Given the description of an element on the screen output the (x, y) to click on. 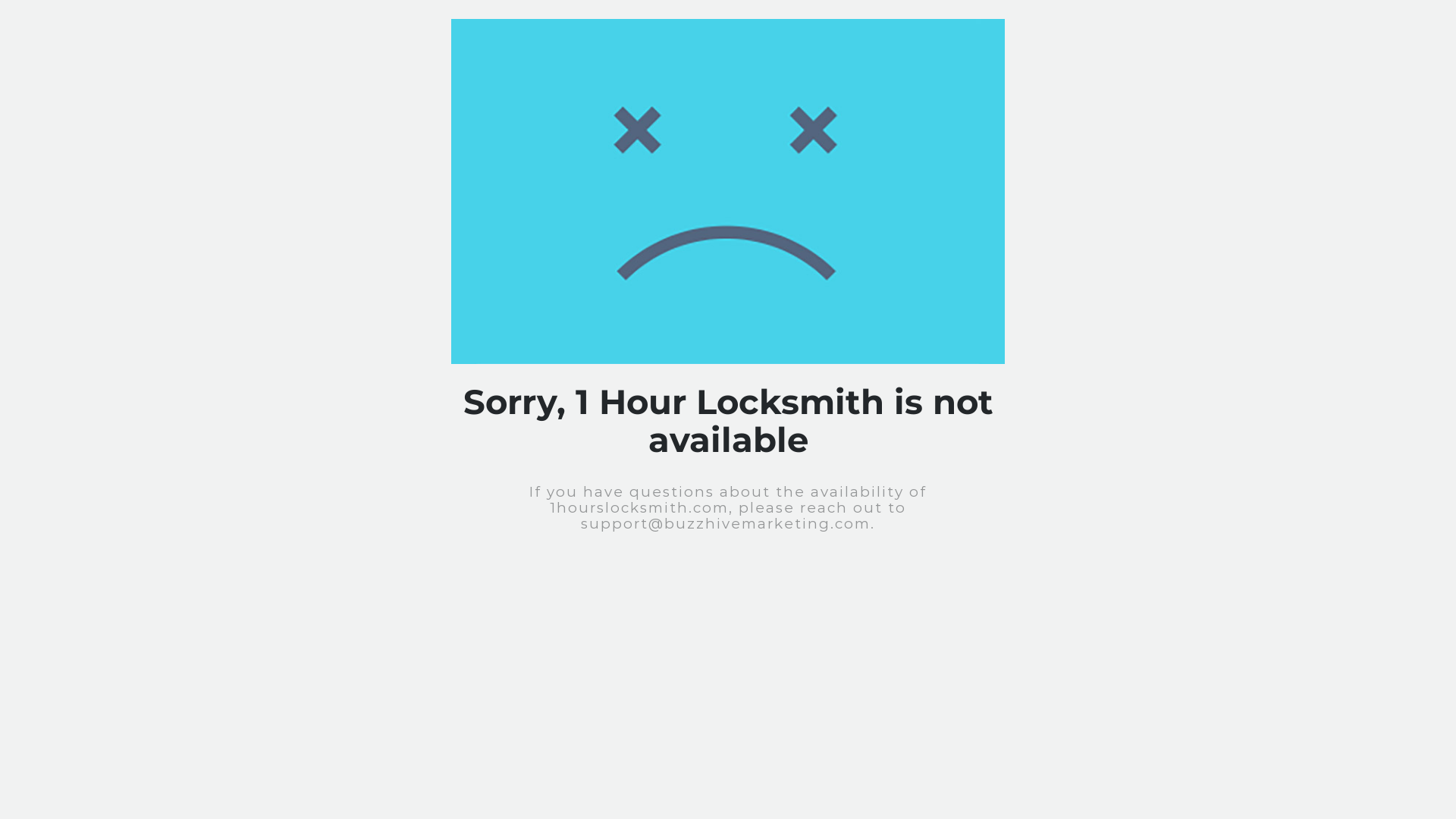
Sad Site is under construction :( Element type: hover (727, 191)
